Given the description of an element on the screen output the (x, y) to click on. 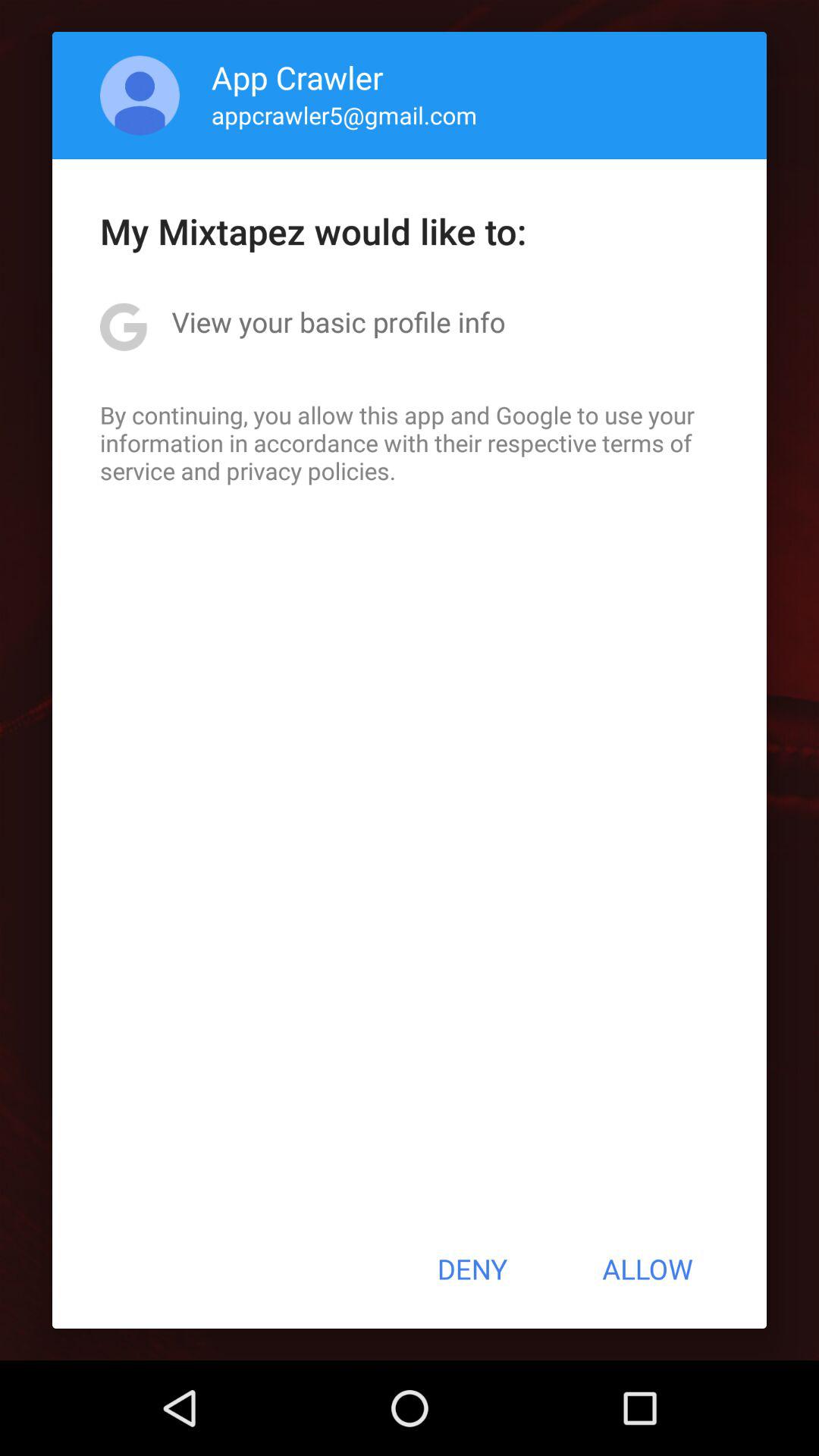
select the item next to app crawler app (139, 95)
